Given the description of an element on the screen output the (x, y) to click on. 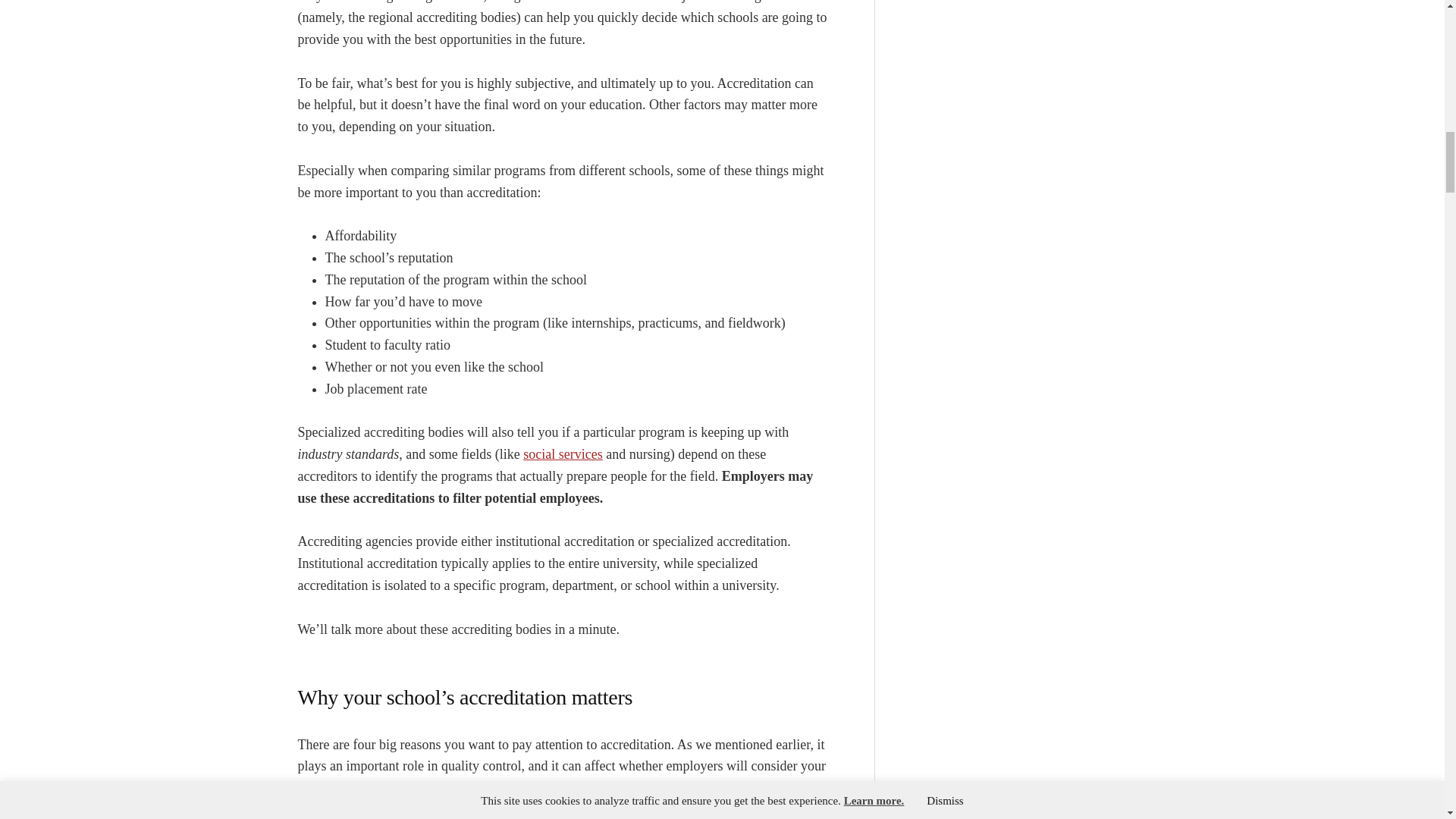
social services (562, 453)
